Given the description of an element on the screen output the (x, y) to click on. 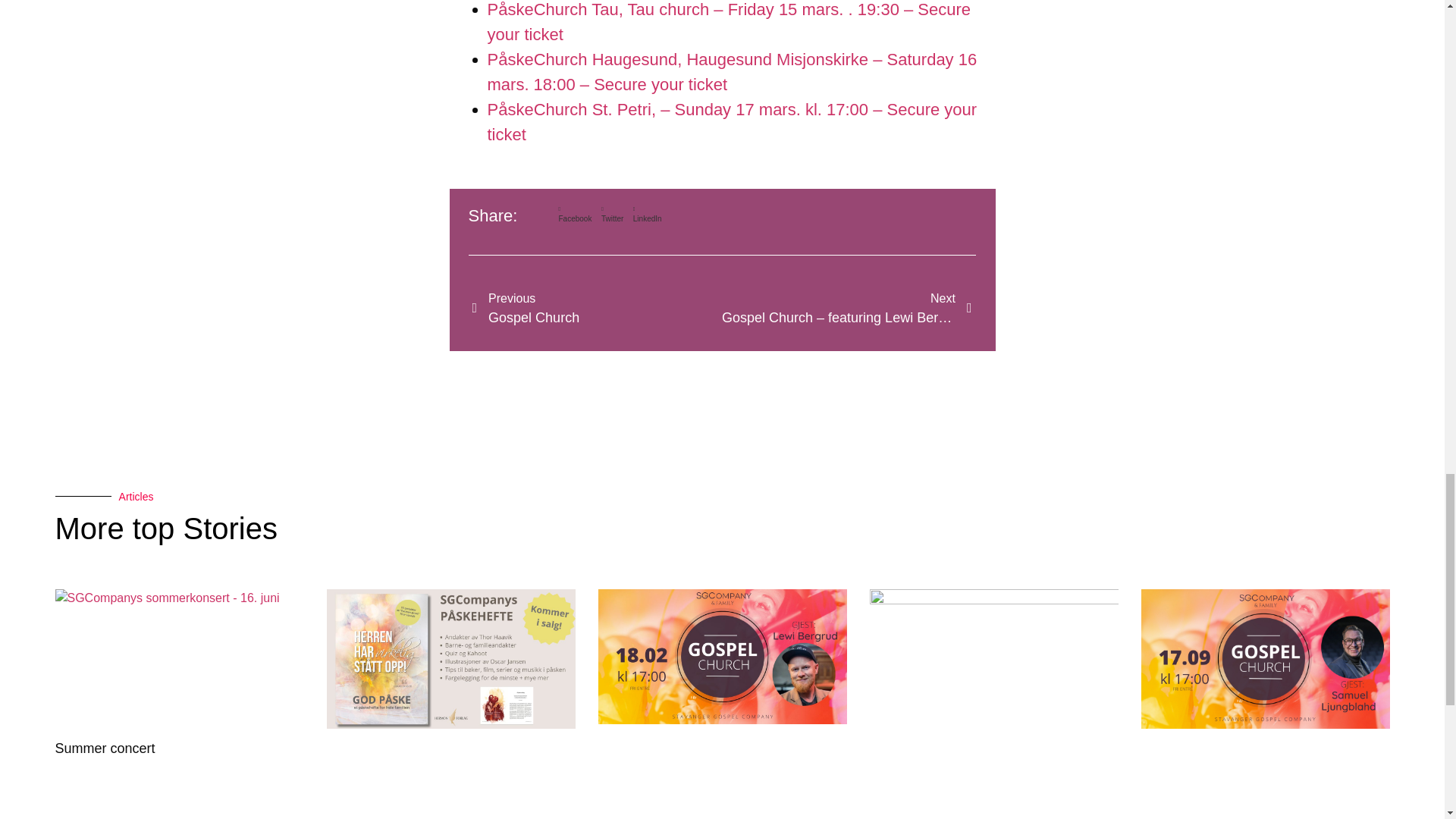
Summer concert (596, 308)
